Given the description of an element on the screen output the (x, y) to click on. 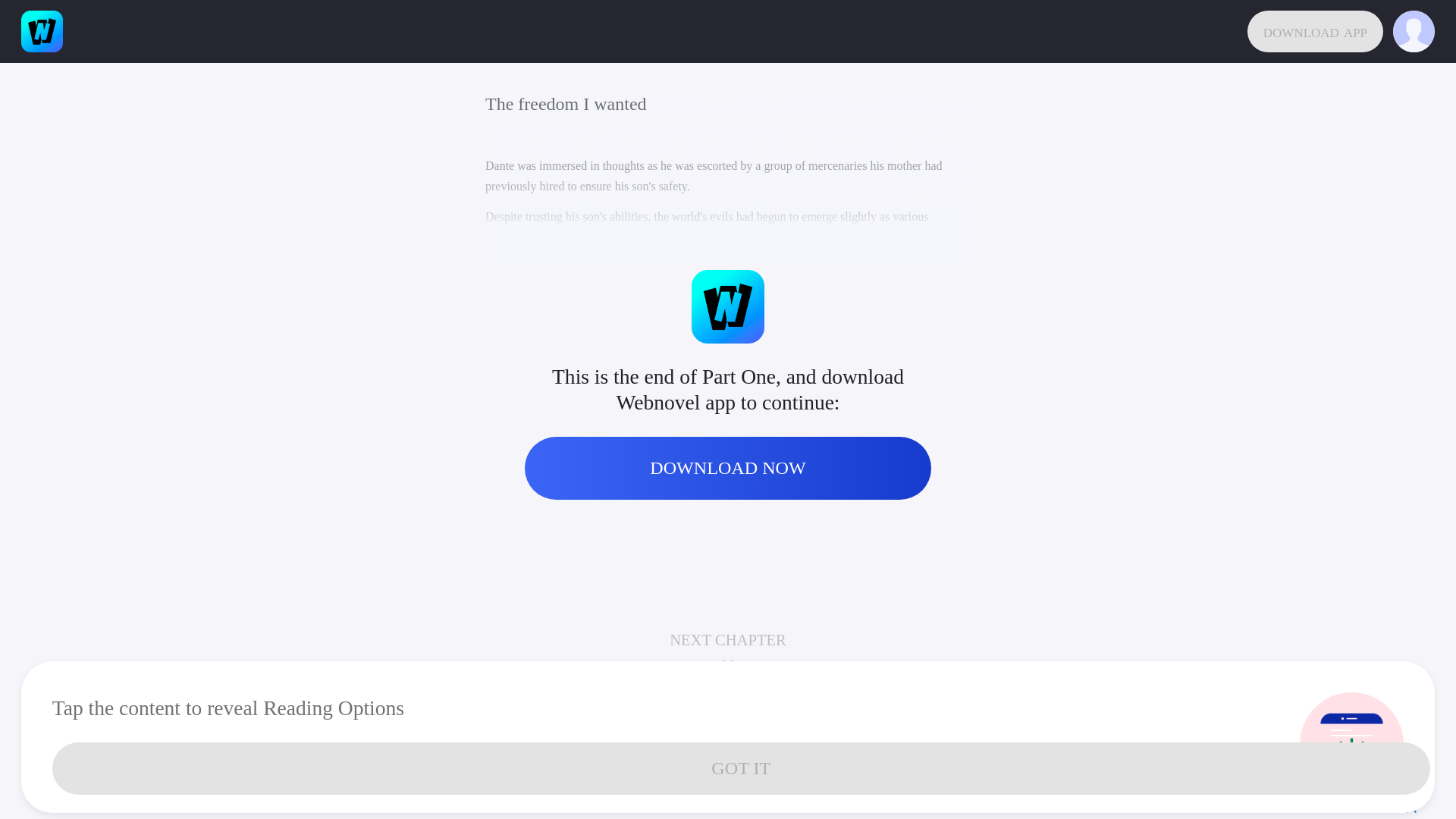
Webnovel (41, 31)
download app (1315, 31)
GOT IT (740, 768)
